Given the description of an element on the screen output the (x, y) to click on. 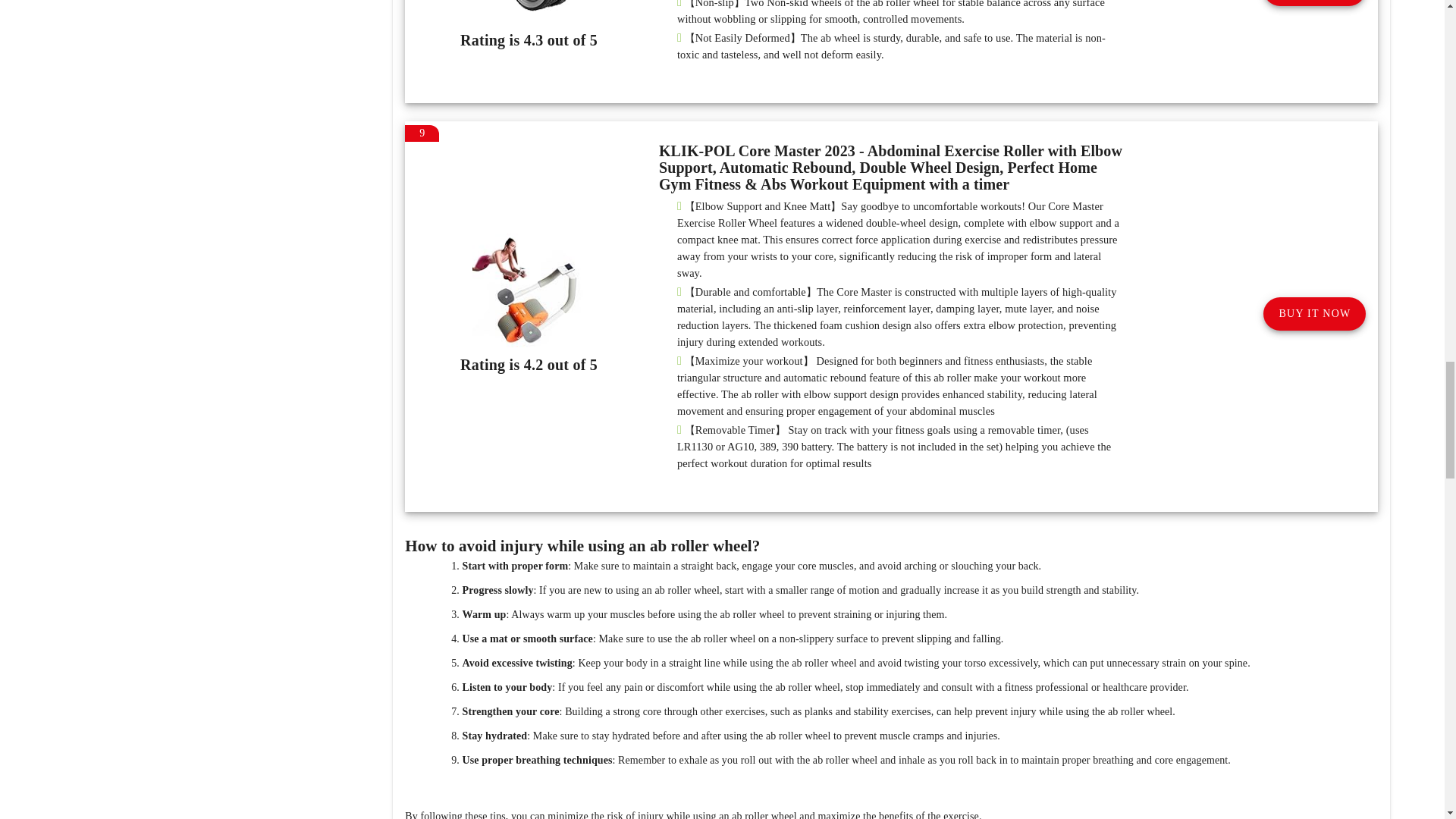
BUY IT NOW (1314, 2)
BUY IT NOW (1314, 313)
